Given the description of an element on the screen output the (x, y) to click on. 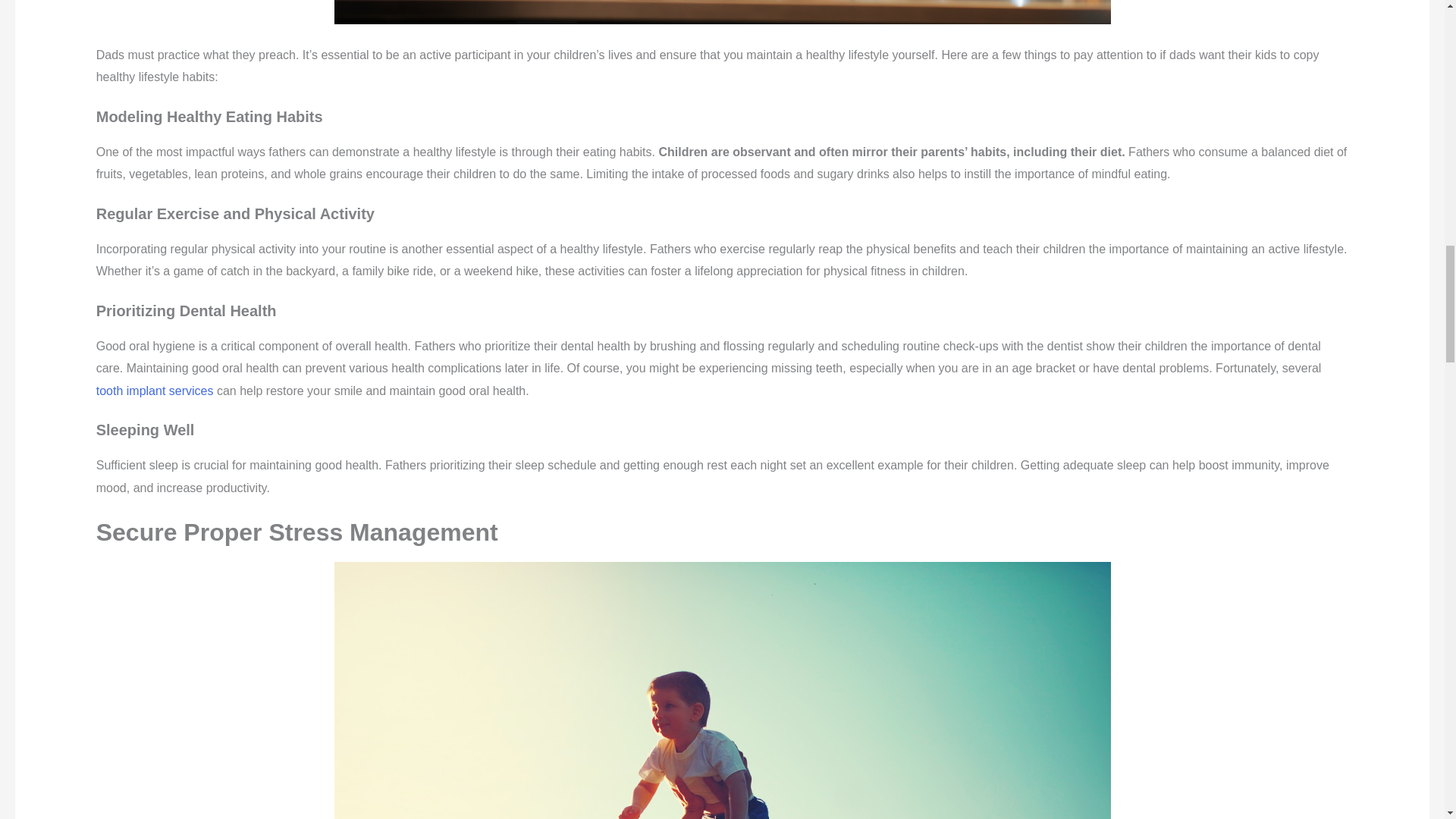
tooth implant services (155, 390)
Healthy lifestyle (721, 12)
